Given the description of an element on the screen output the (x, y) to click on. 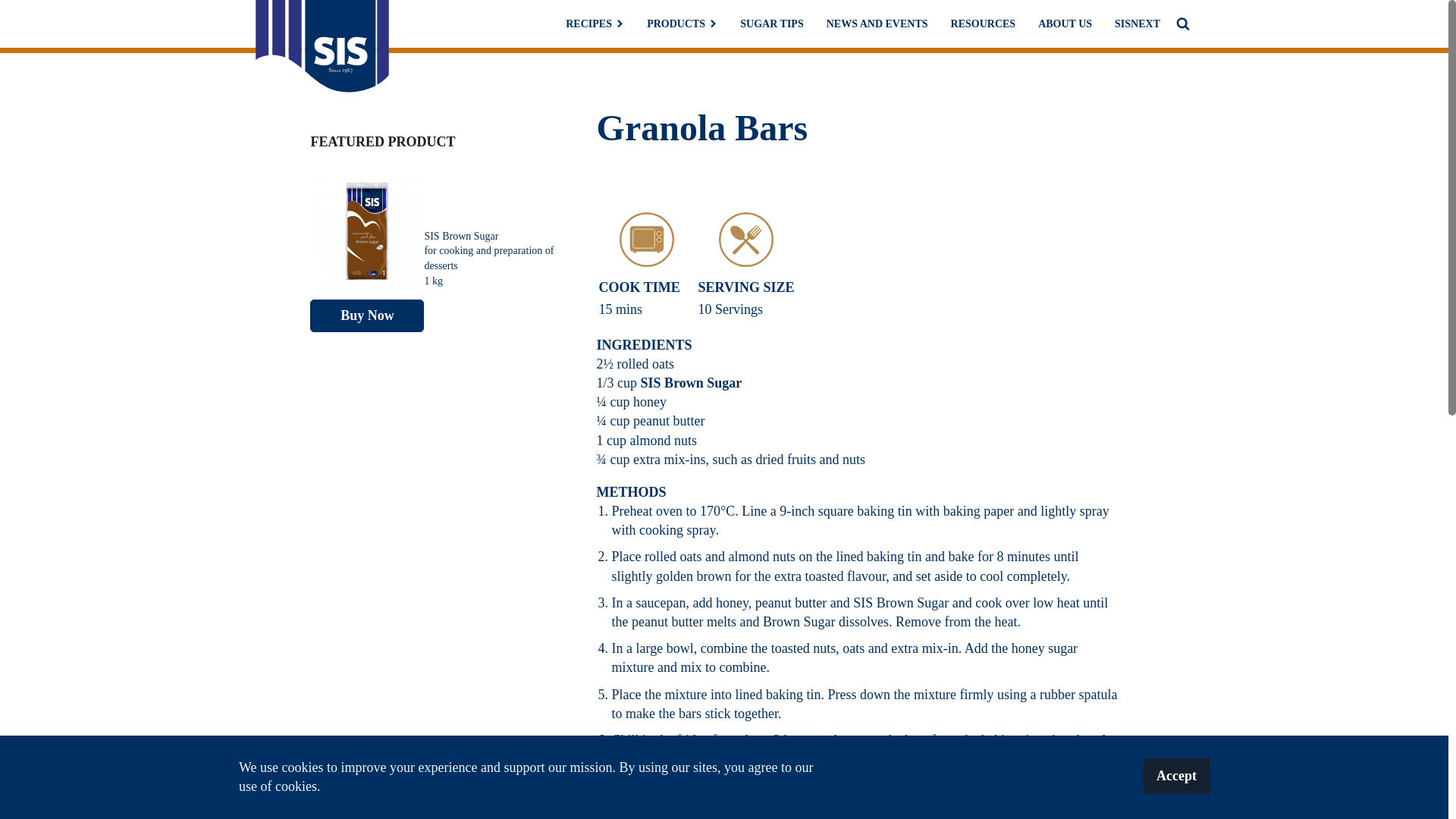
SIS Brown Sugar (691, 382)
SISNEXT (1137, 23)
Search (27, 10)
RESOURCES (983, 23)
PRODUCTS (681, 23)
ABOUT US (1064, 23)
SUGAR TIPS (771, 23)
NEWS AND EVENTS (877, 23)
Buy Now (366, 315)
RECIPES (594, 23)
